Given the description of an element on the screen output the (x, y) to click on. 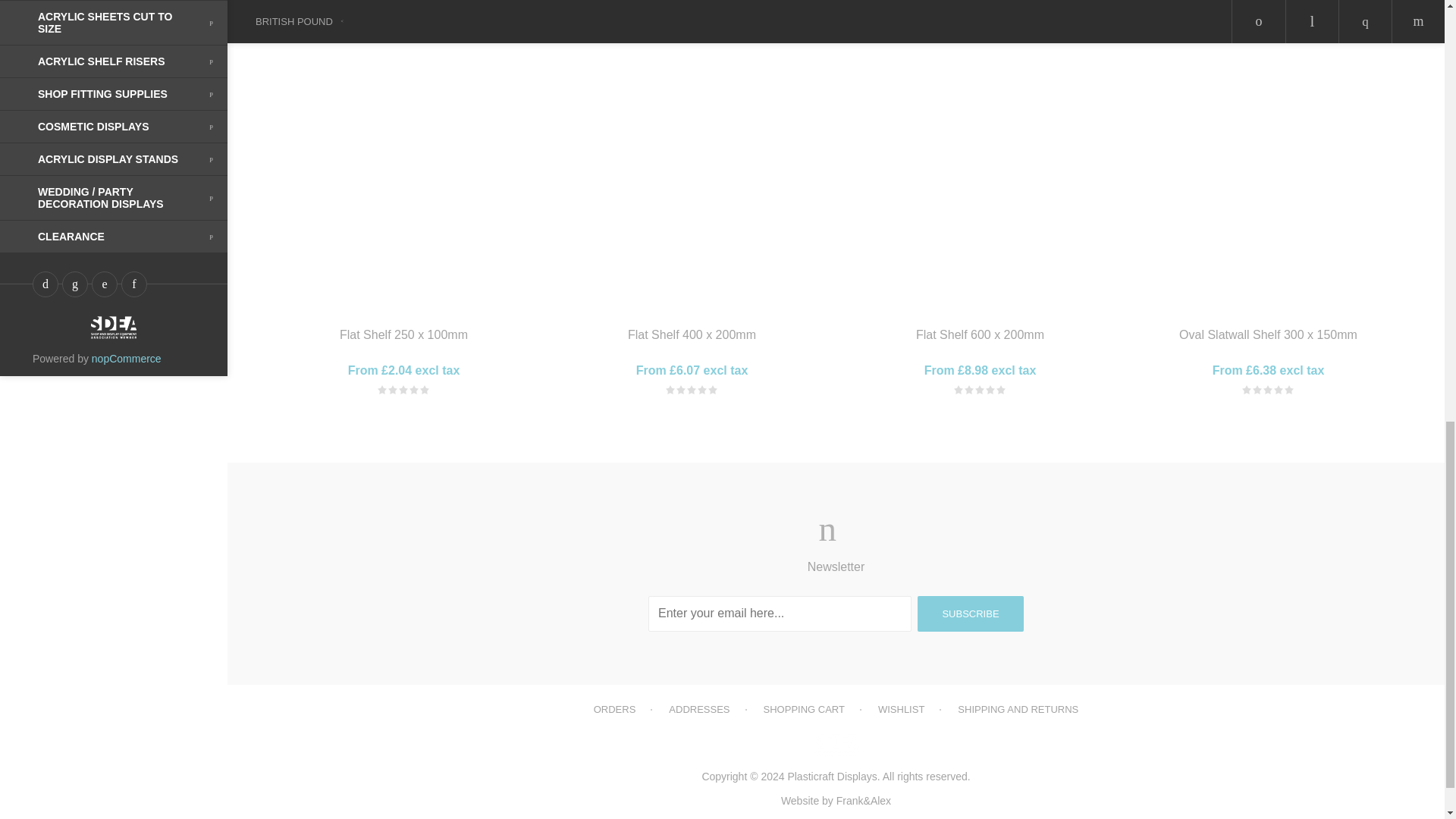
Subscribe (970, 613)
